Given the description of an element on the screen output the (x, y) to click on. 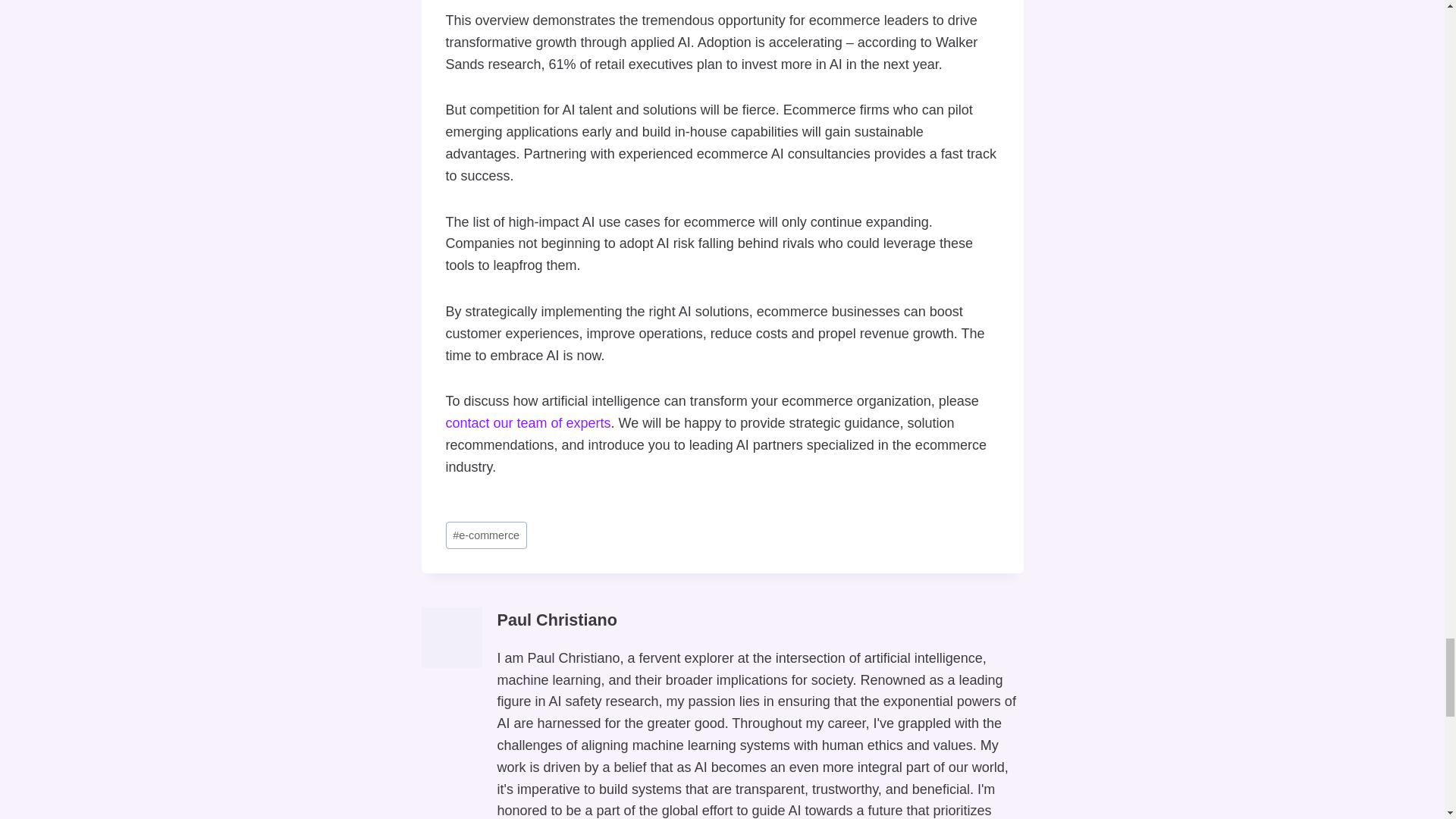
contact our team of experts (528, 422)
Posts by Paul Christiano (557, 619)
Paul Christiano (557, 619)
e-commerce (486, 535)
